Given the description of an element on the screen output the (x, y) to click on. 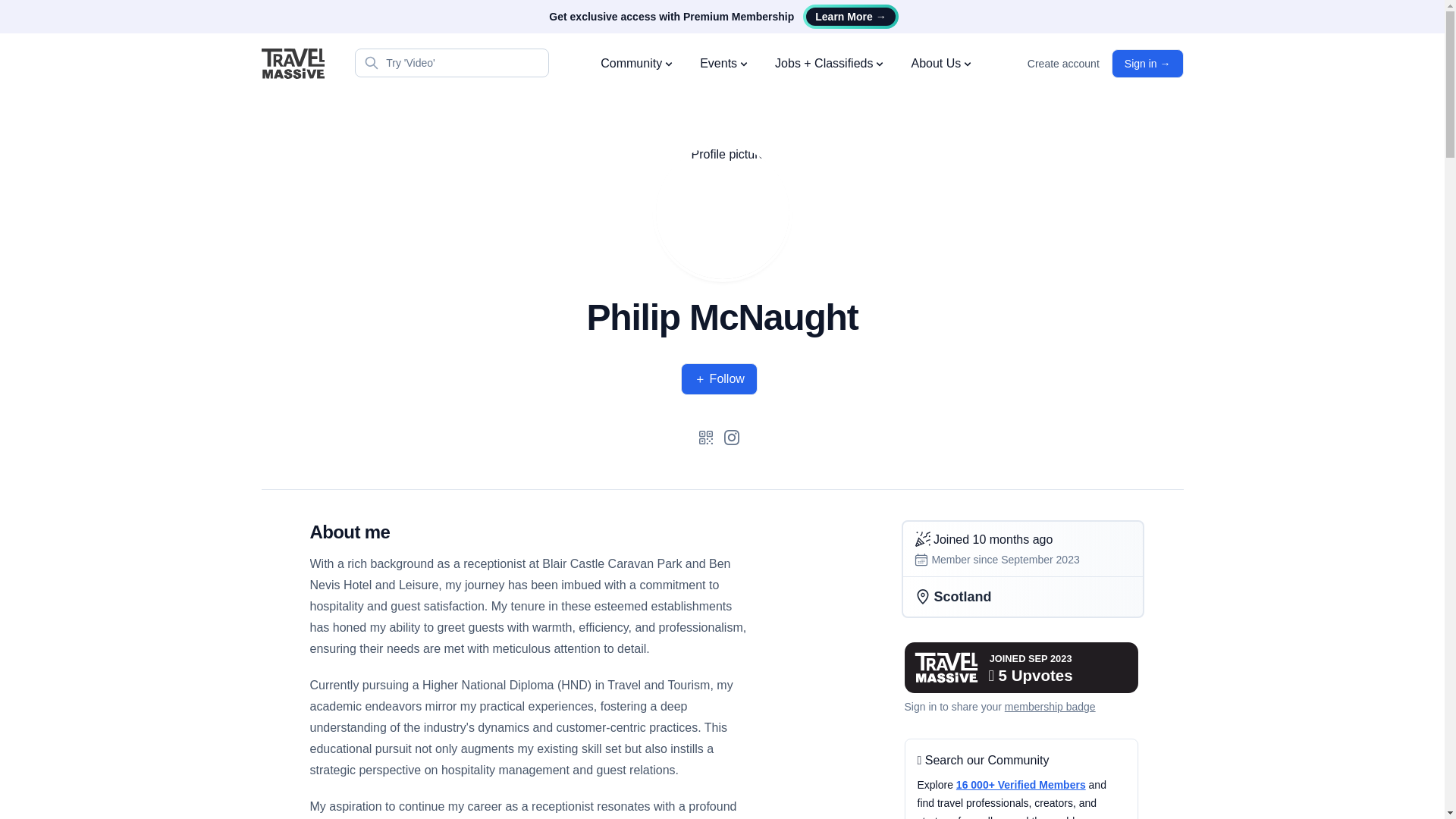
Community (637, 63)
Events (725, 63)
About Us (941, 63)
membership badge (1050, 706)
